Given the description of an element on the screen output the (x, y) to click on. 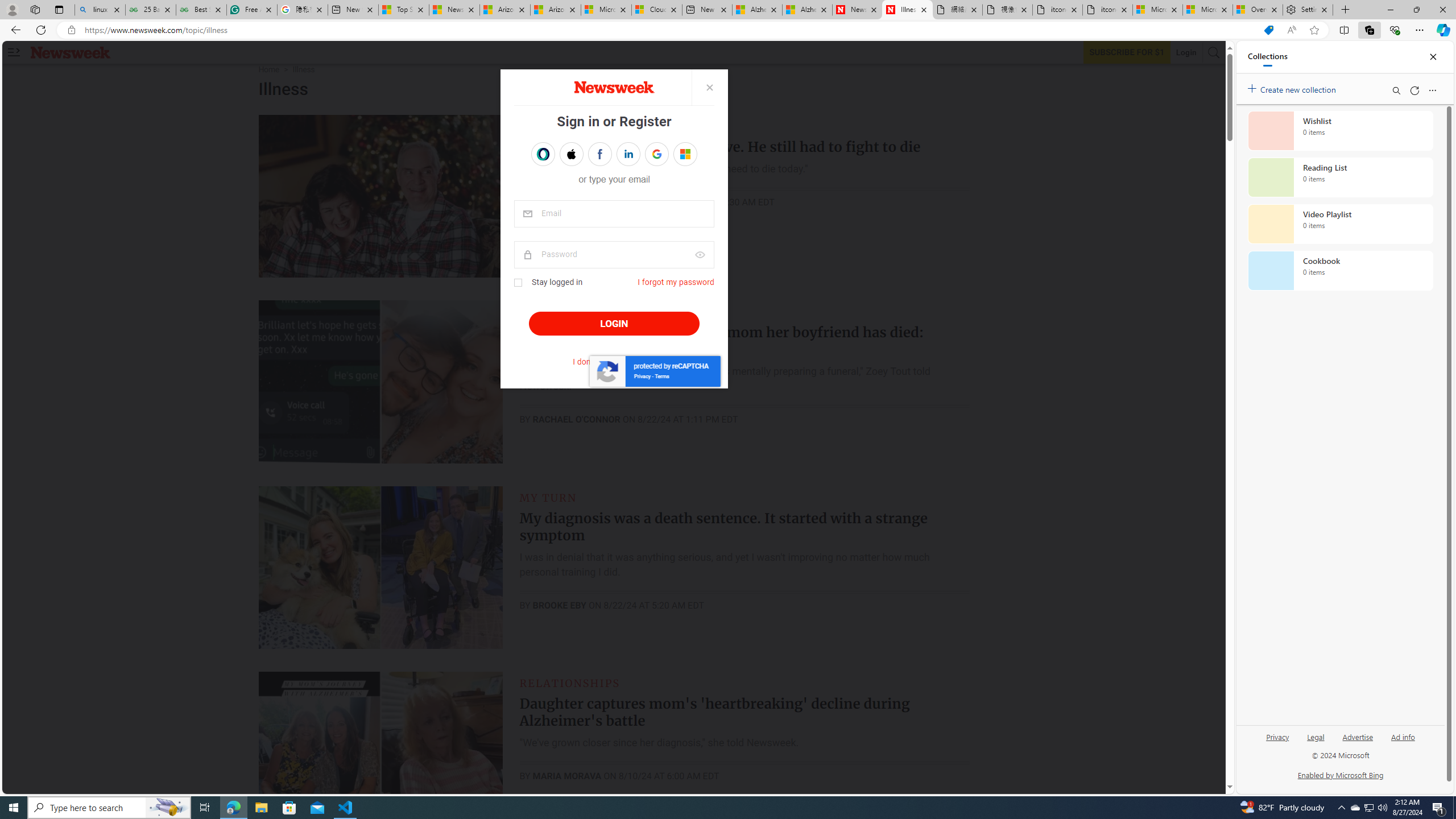
Wishlist collection, 0 items (1339, 130)
Sign in with LINKEDIN (627, 154)
Sign in with APPLE (571, 154)
I don't have an account (613, 362)
Login (1186, 51)
Sign in as Eugene EugeneLedger601@outlook.com (684, 154)
Sign in with GOOGLE (656, 154)
